Given the description of an element on the screen output the (x, y) to click on. 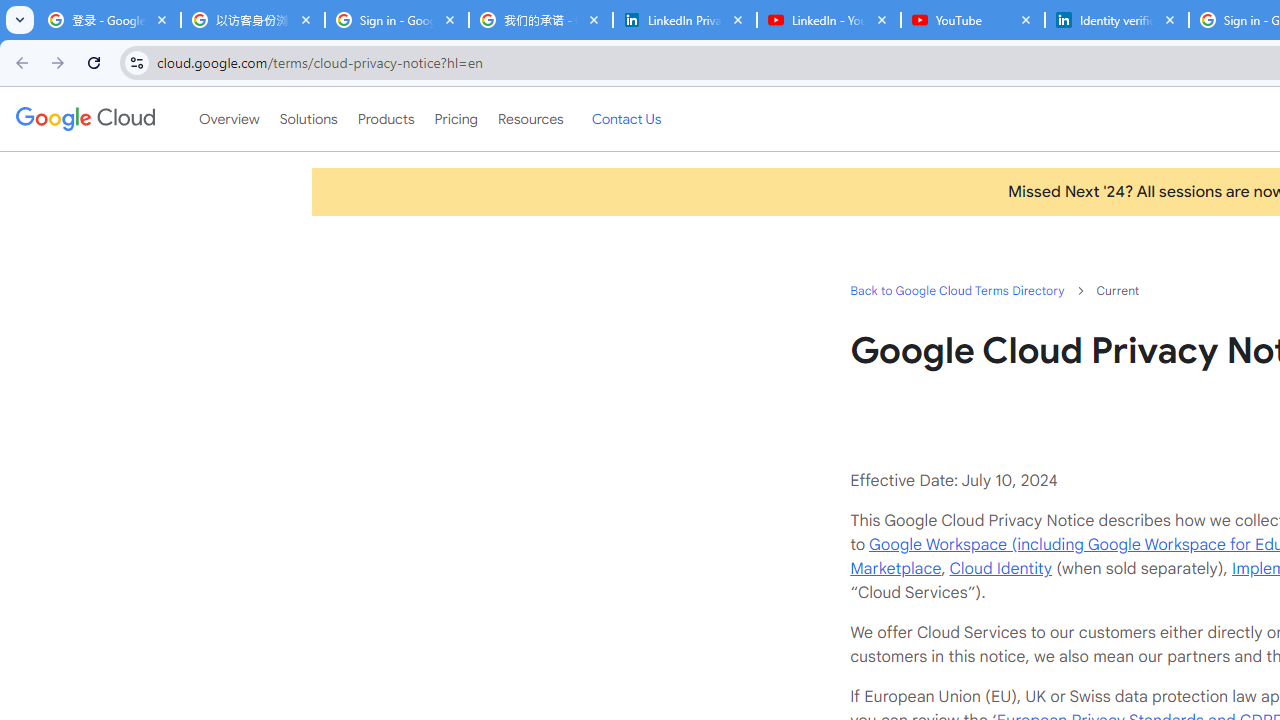
Sign in - Google Accounts (396, 20)
LinkedIn Privacy Policy (684, 20)
Back to Google Cloud Terms Directory (956, 290)
LinkedIn - YouTube (828, 20)
Resources (530, 119)
Cloud Identity (1000, 568)
